Given the description of an element on the screen output the (x, y) to click on. 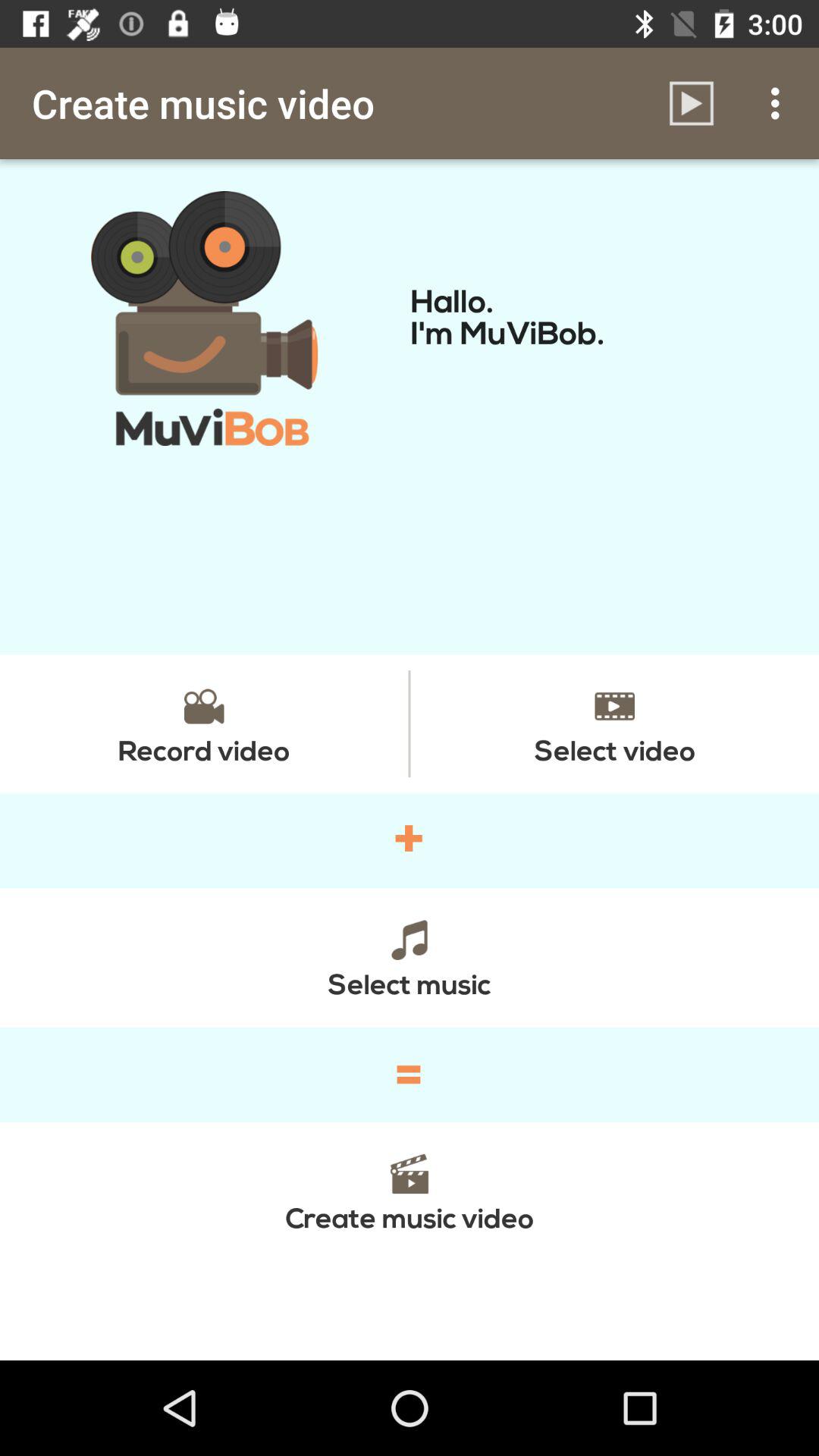
swipe to select video item (614, 723)
